Given the description of an element on the screen output the (x, y) to click on. 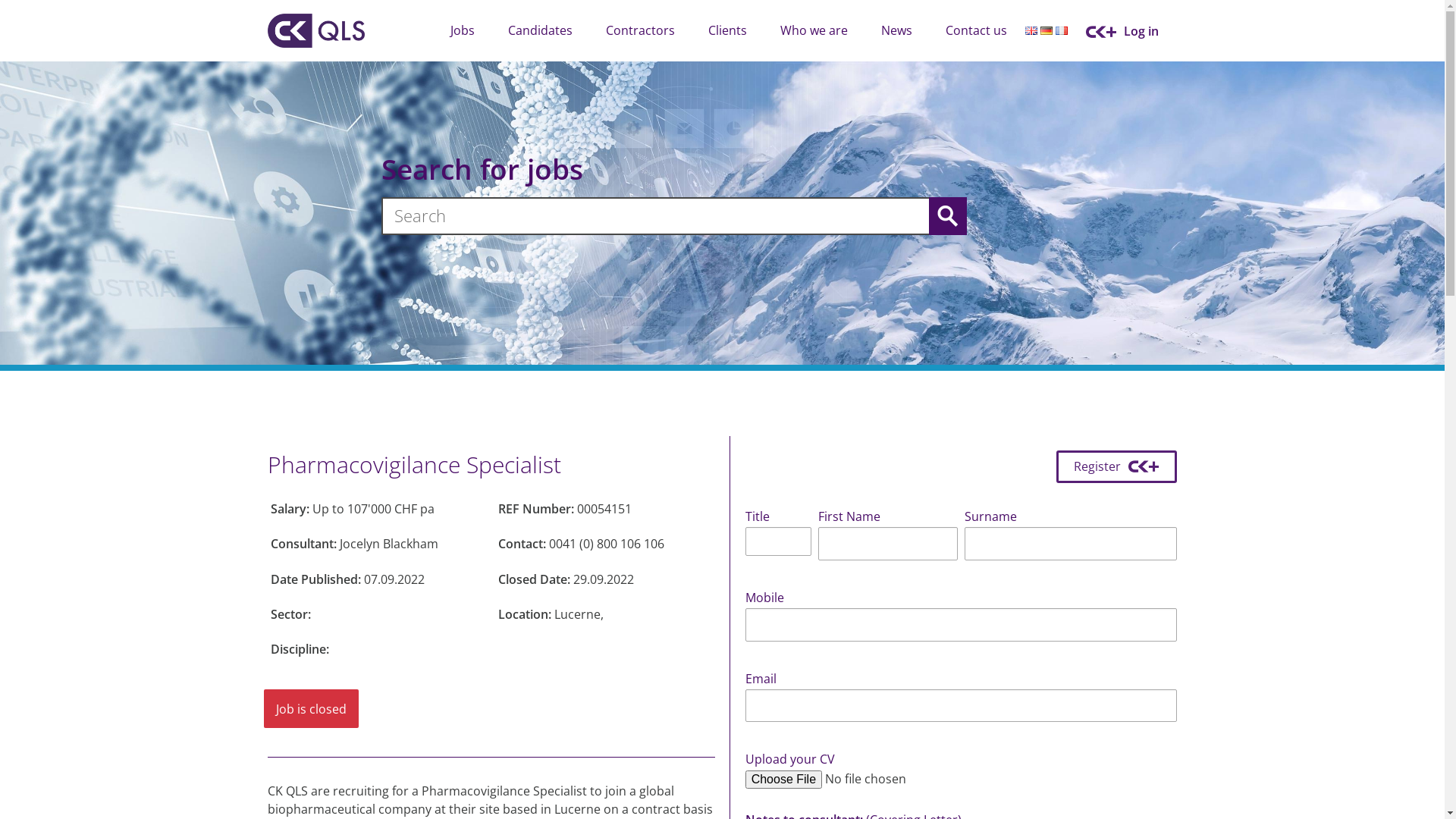
Jobs Element type: text (462, 29)
Register Element type: text (1116, 466)
Who we are Element type: text (813, 29)
Clients Element type: text (727, 29)
News Element type: text (896, 29)
Contractors Element type: text (639, 29)
Log in Element type: text (1131, 31)
GO Element type: text (947, 216)
Candidates Element type: text (540, 29)
Contact us Element type: text (975, 29)
